Given the description of an element on the screen output the (x, y) to click on. 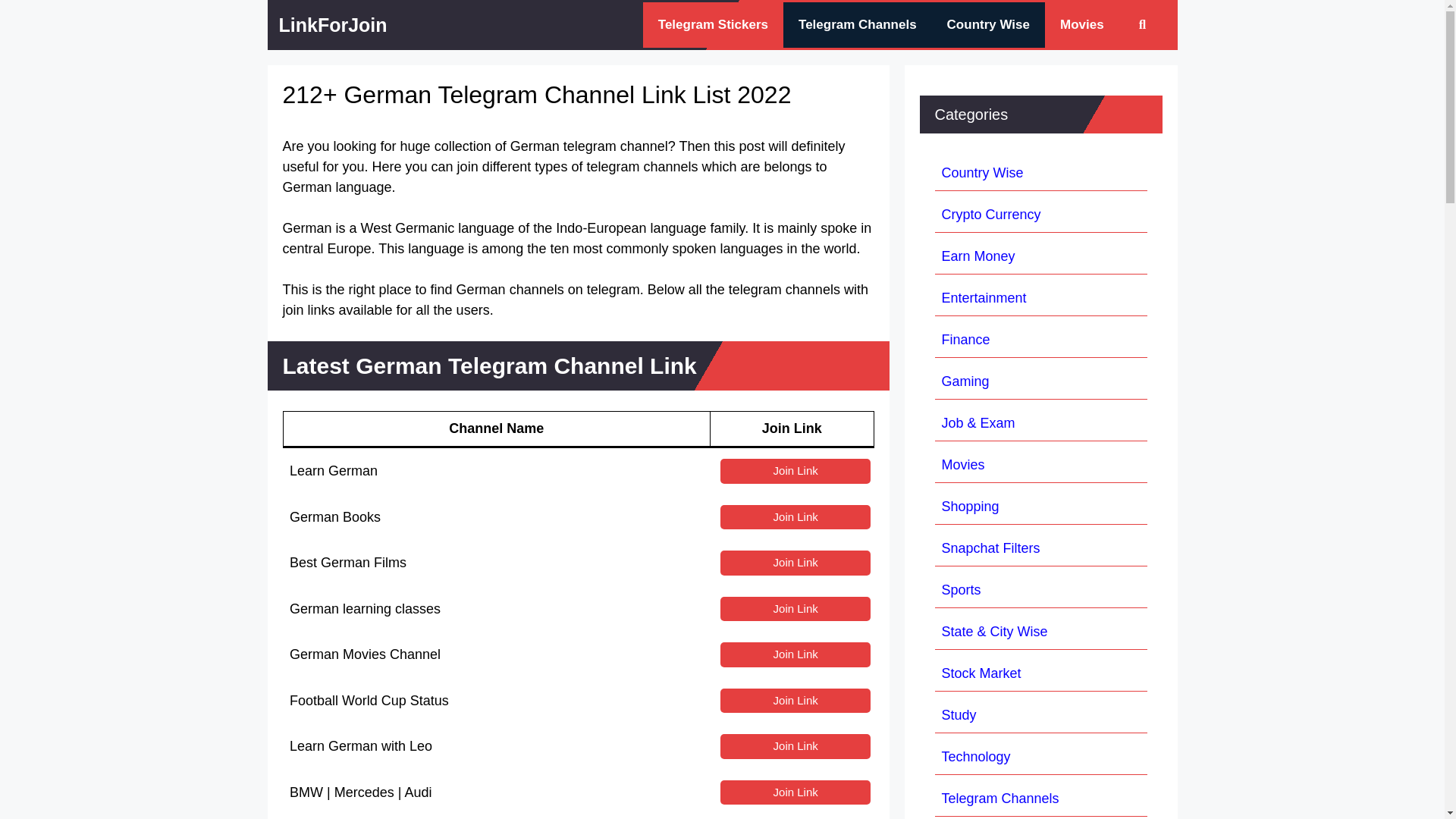
Earn Money (978, 255)
Join Link (795, 654)
Join Link (795, 562)
Join Link (795, 471)
Join Link (795, 700)
Join Link (795, 746)
Country Wise (988, 24)
Join Link (795, 609)
Movies (1082, 24)
Entertainment (984, 297)
